Given the description of an element on the screen output the (x, y) to click on. 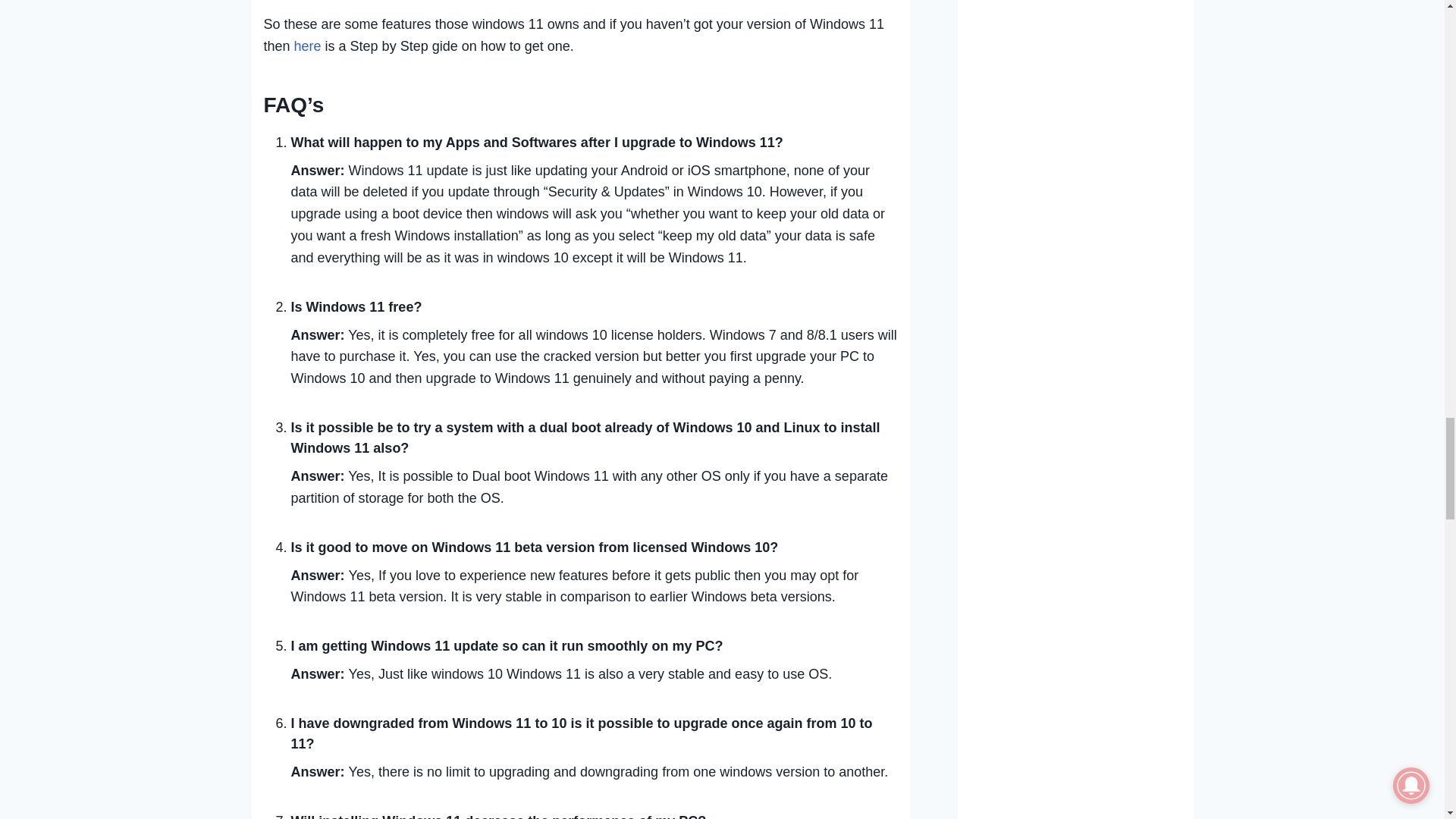
here (307, 46)
